Given the description of an element on the screen output the (x, y) to click on. 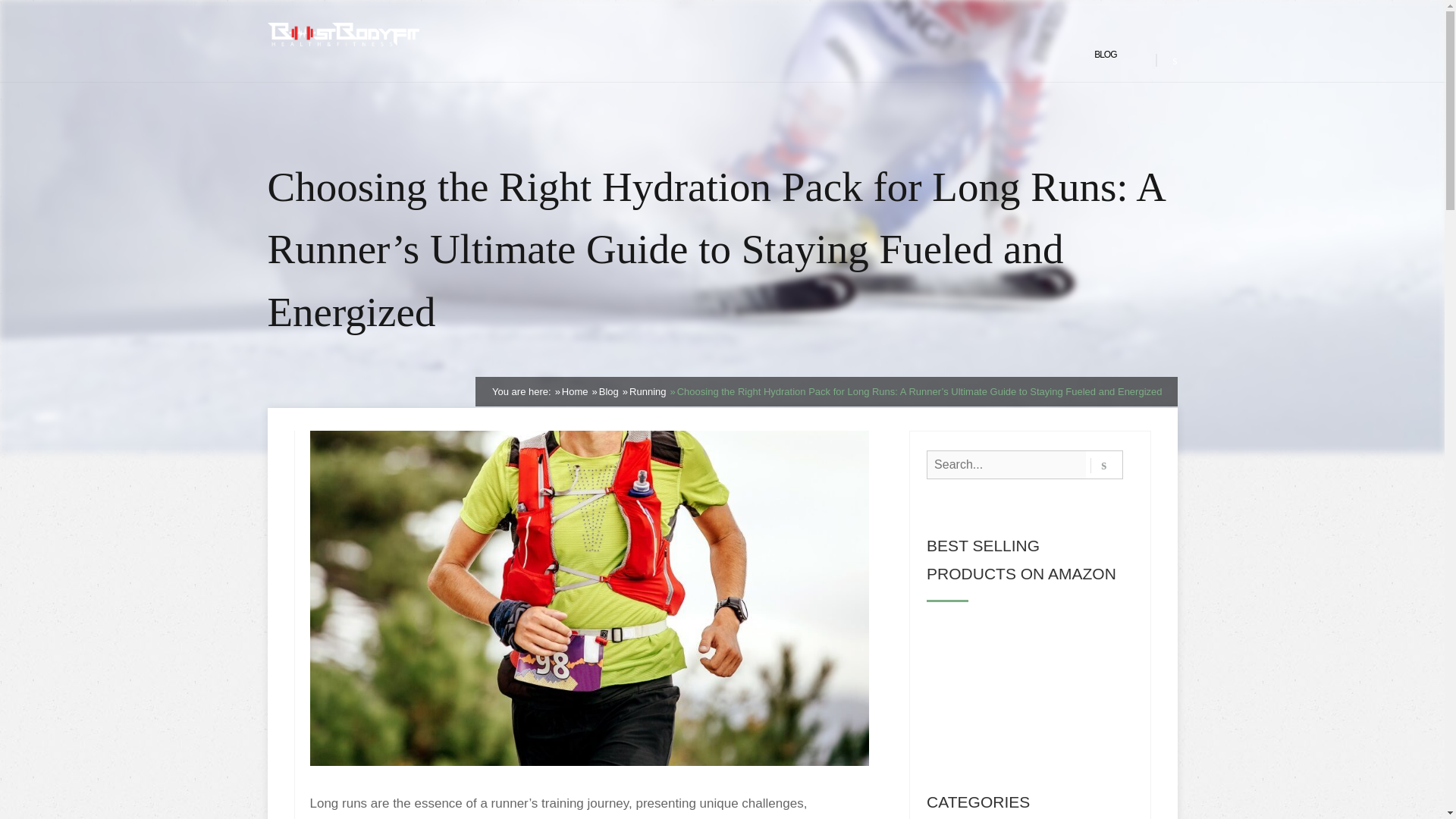
Home (575, 391)
BLOG (1105, 54)
Running (646, 391)
Blog (608, 391)
